Given the description of an element on the screen output the (x, y) to click on. 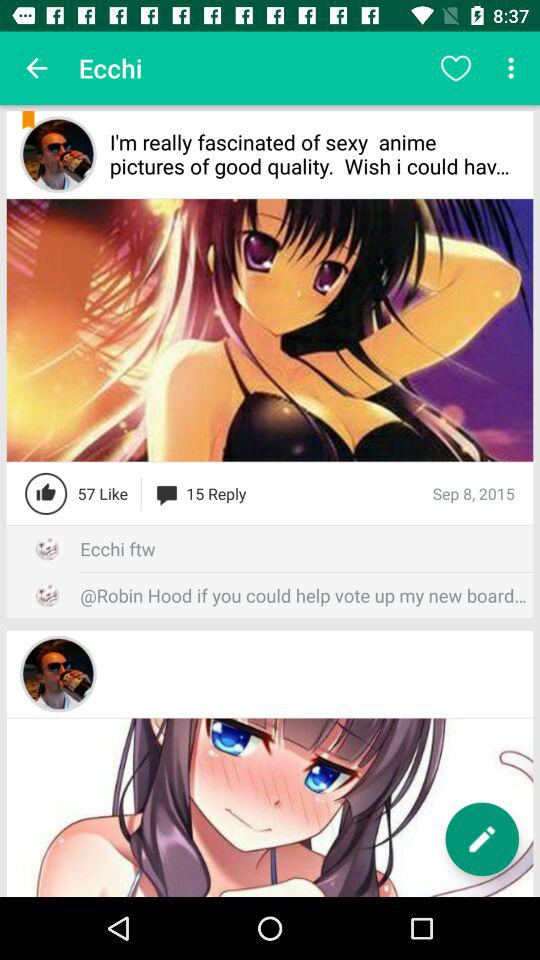
like (46, 493)
